Given the description of an element on the screen output the (x, y) to click on. 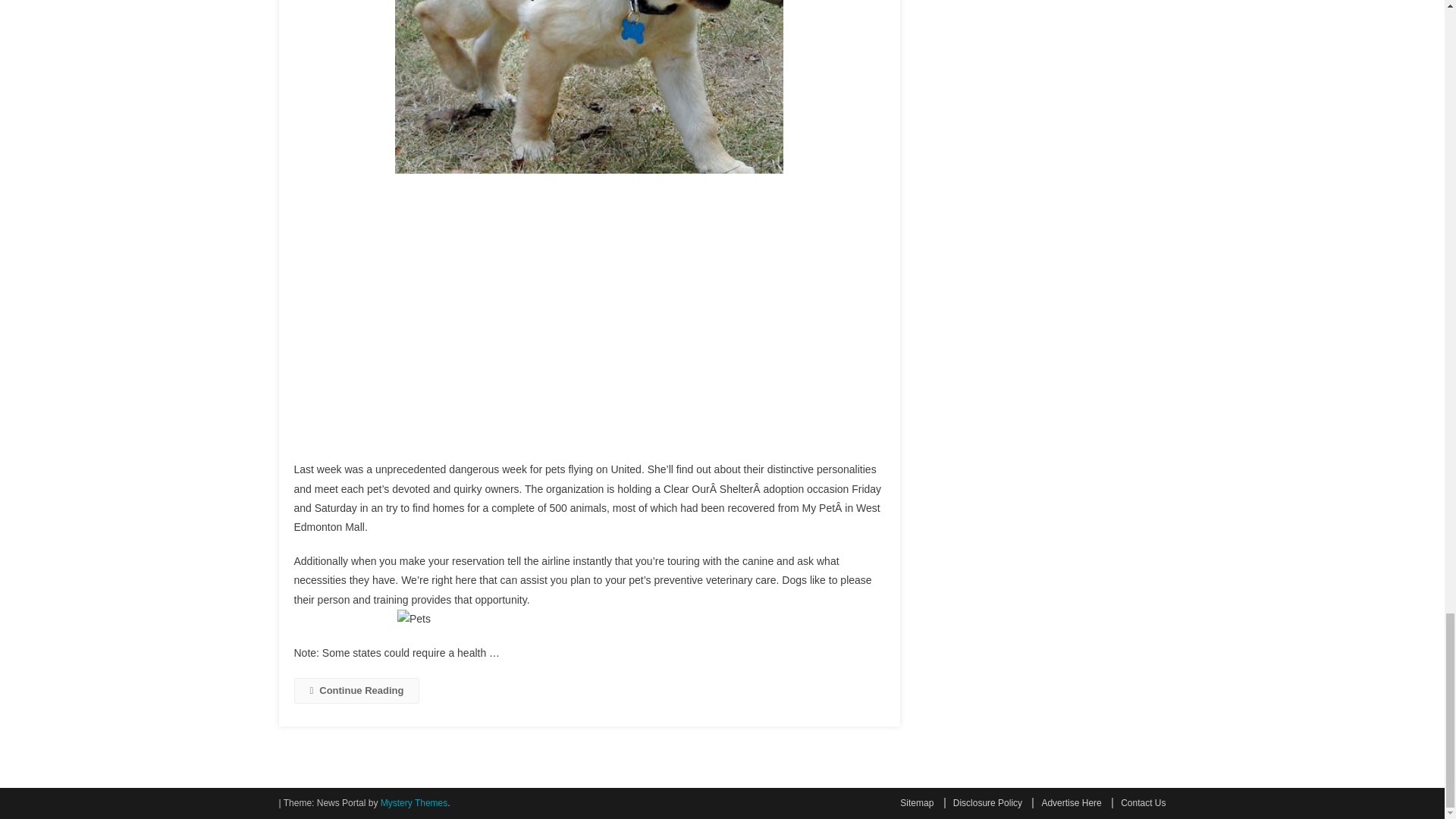
Continue Reading (357, 690)
